Given the description of an element on the screen output the (x, y) to click on. 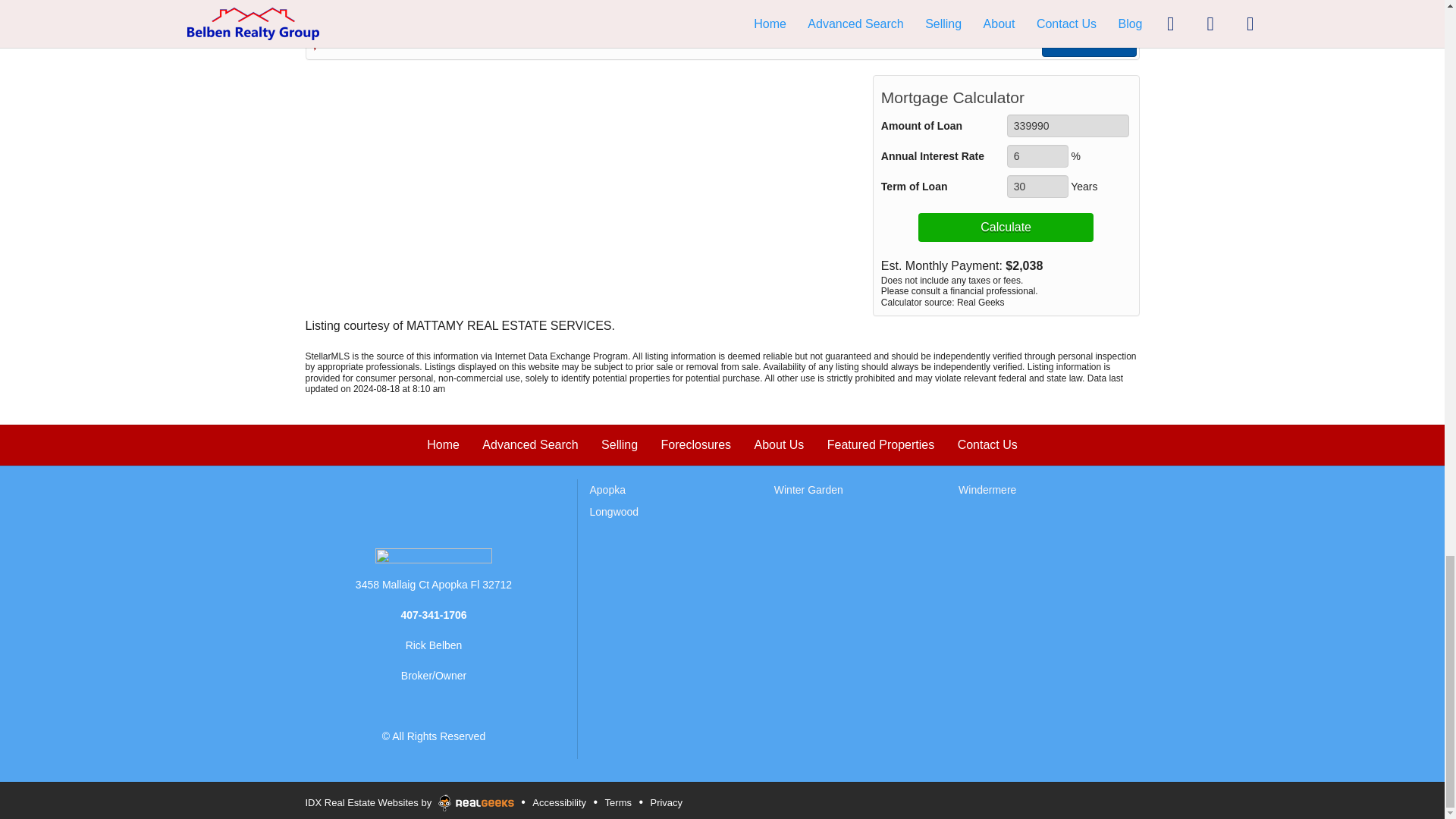
30 (1037, 186)
6 (1037, 155)
339990 (1068, 125)
